Given the description of an element on the screen output the (x, y) to click on. 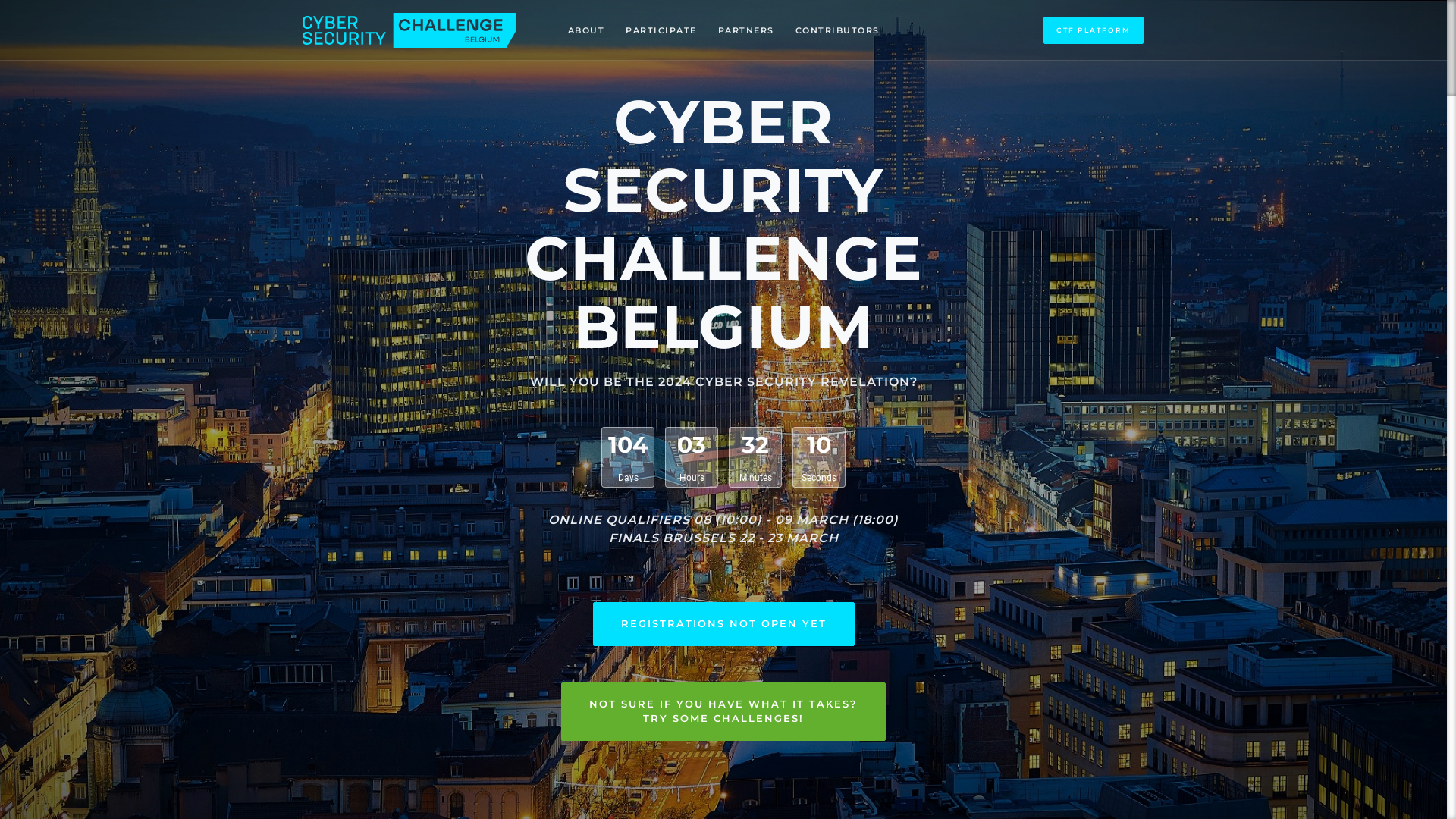
CTF PLATFORM Element type: text (1093, 29)
ABOUT Element type: text (585, 30)
PARTICIPATE Element type: text (660, 30)
PARTNERS Element type: text (745, 30)
CONTRIBUTORS Element type: text (836, 30)
NOT SURE IF YOU HAVE WHAT IT TAKES?
TRY SOME CHALLENGES! Element type: text (723, 711)
REGISTRATIONS NOT OPEN YET Element type: text (723, 624)
